Given the description of an element on the screen output the (x, y) to click on. 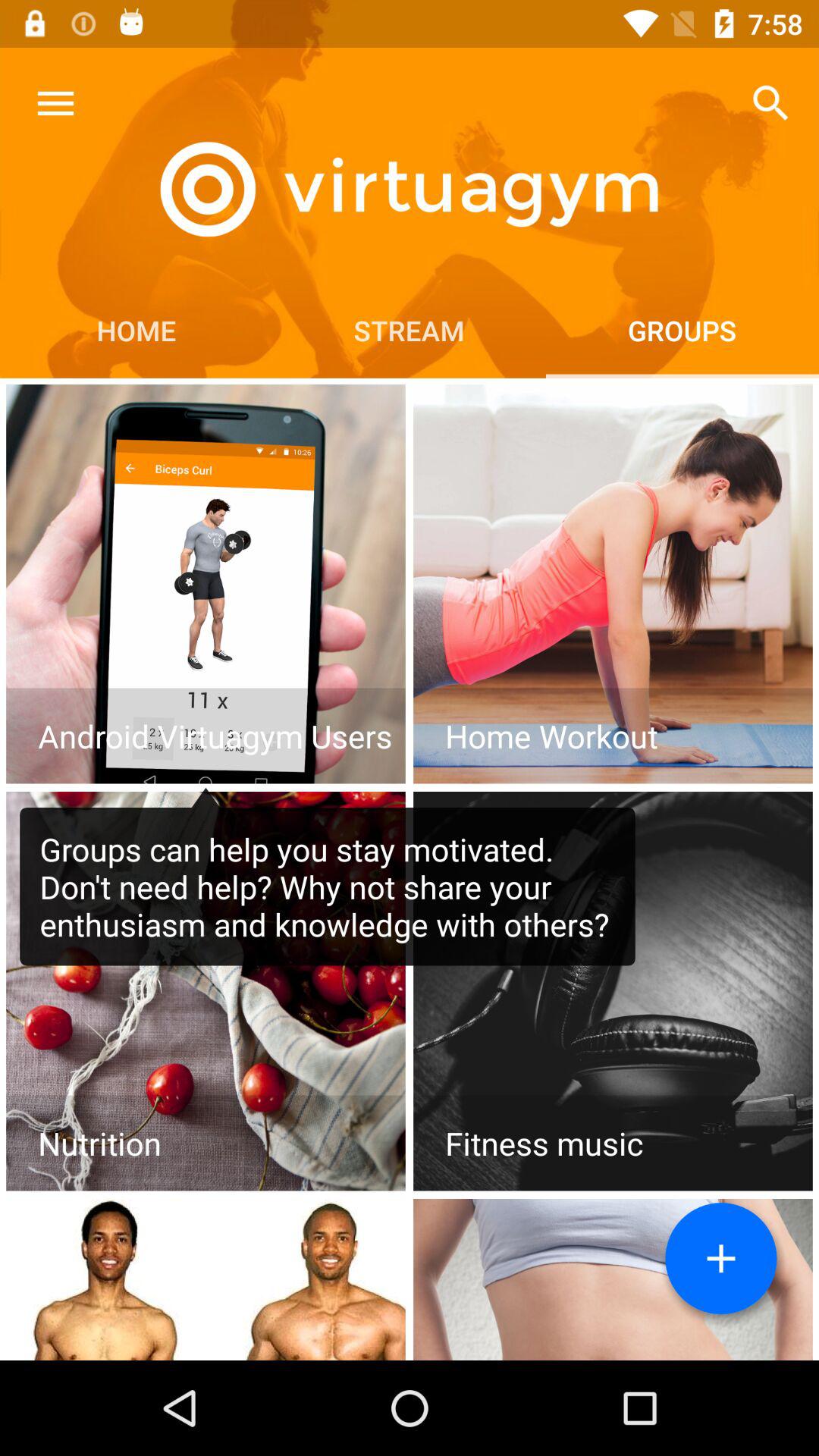
choose your preferred music for your work out (612, 990)
